Given the description of an element on the screen output the (x, y) to click on. 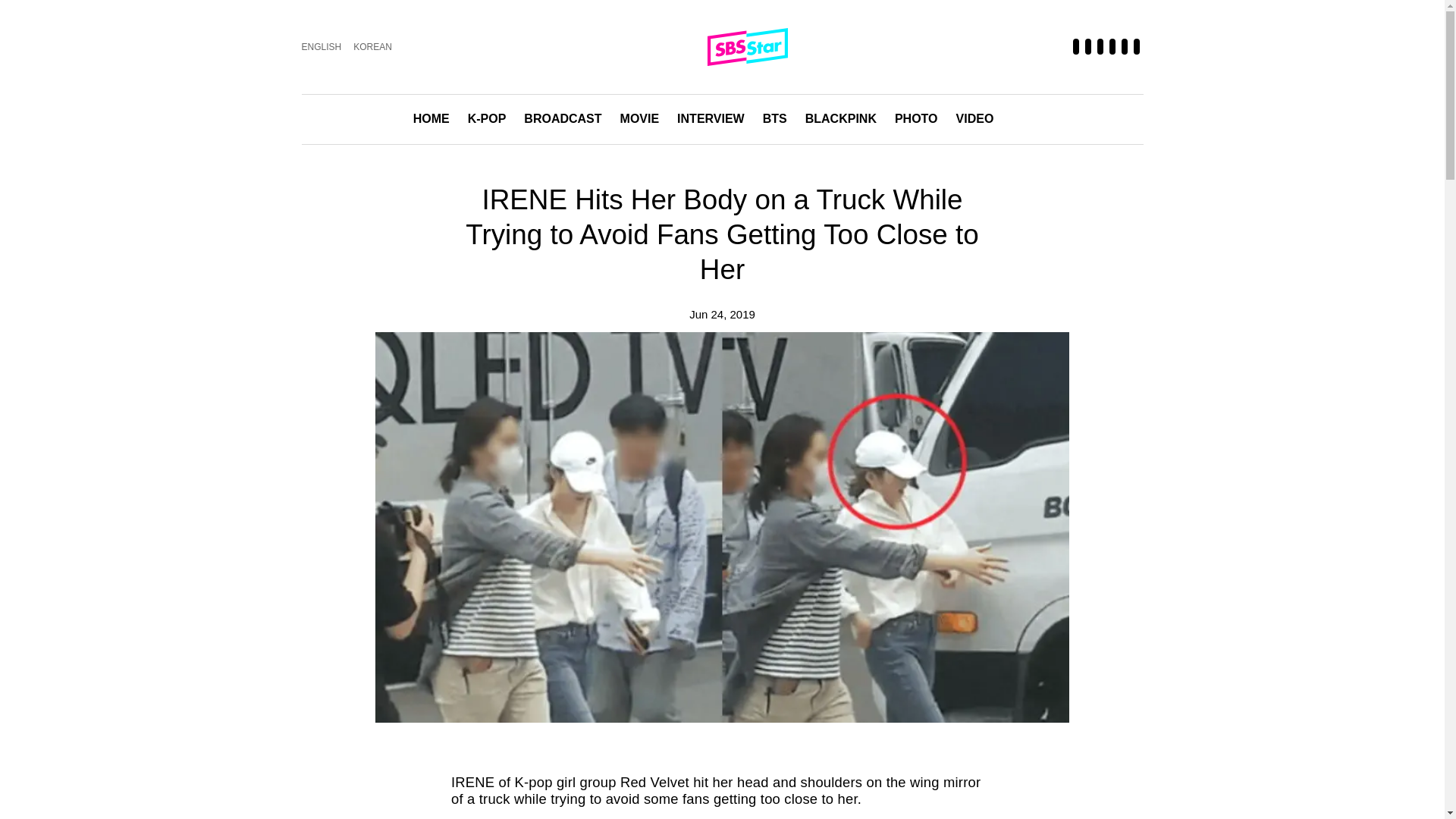
ENGLISH (321, 46)
INTERVIEW (710, 119)
KOREAN (372, 46)
BLACKPINK (840, 119)
BROADCAST (562, 119)
